Given the description of an element on the screen output the (x, y) to click on. 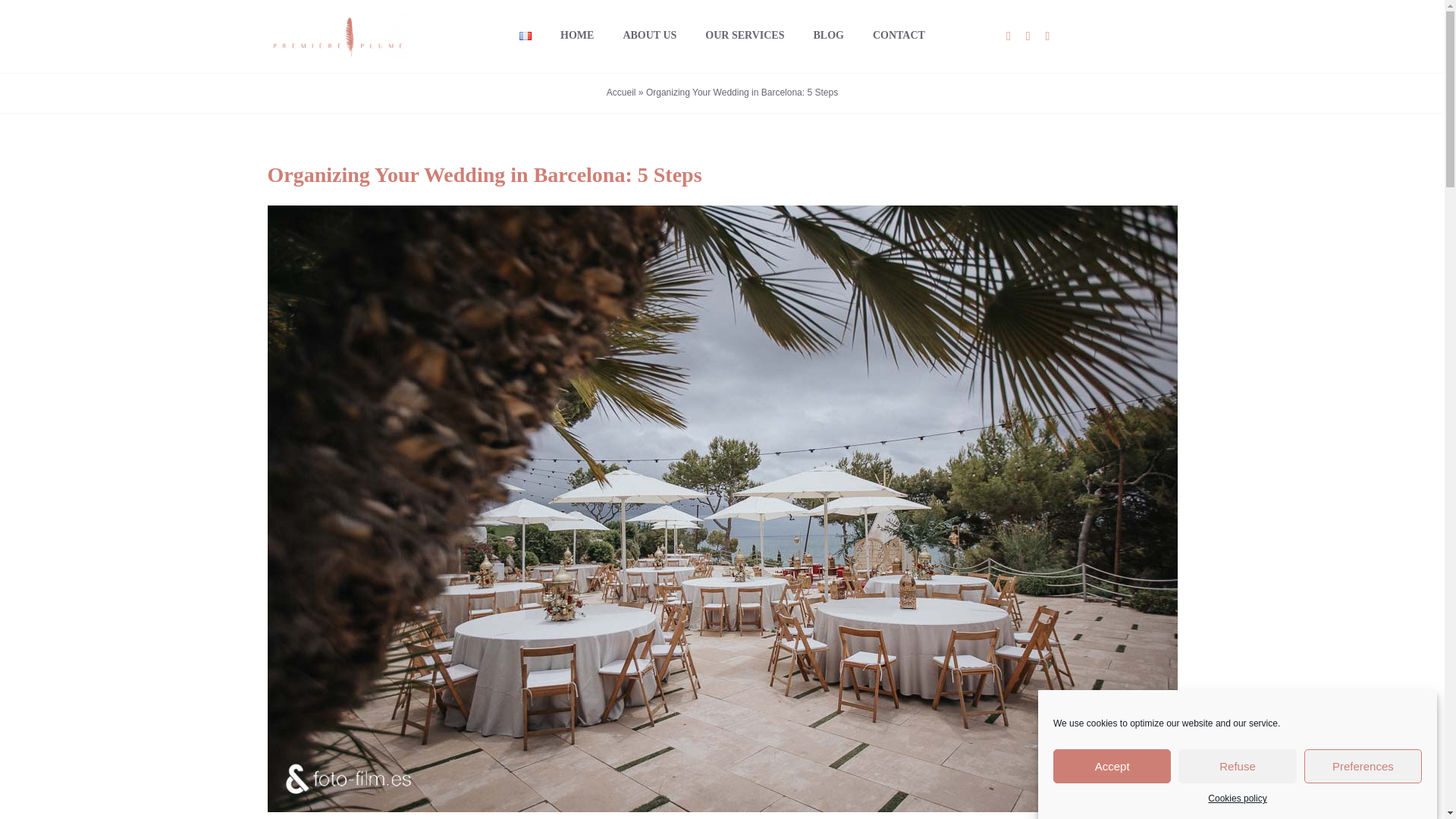
OUR SERVICES (744, 35)
HOME (577, 35)
ABOUT US (650, 35)
BLOG (827, 35)
CONTACT (898, 35)
Accueil (621, 91)
